Given the description of an element on the screen output the (x, y) to click on. 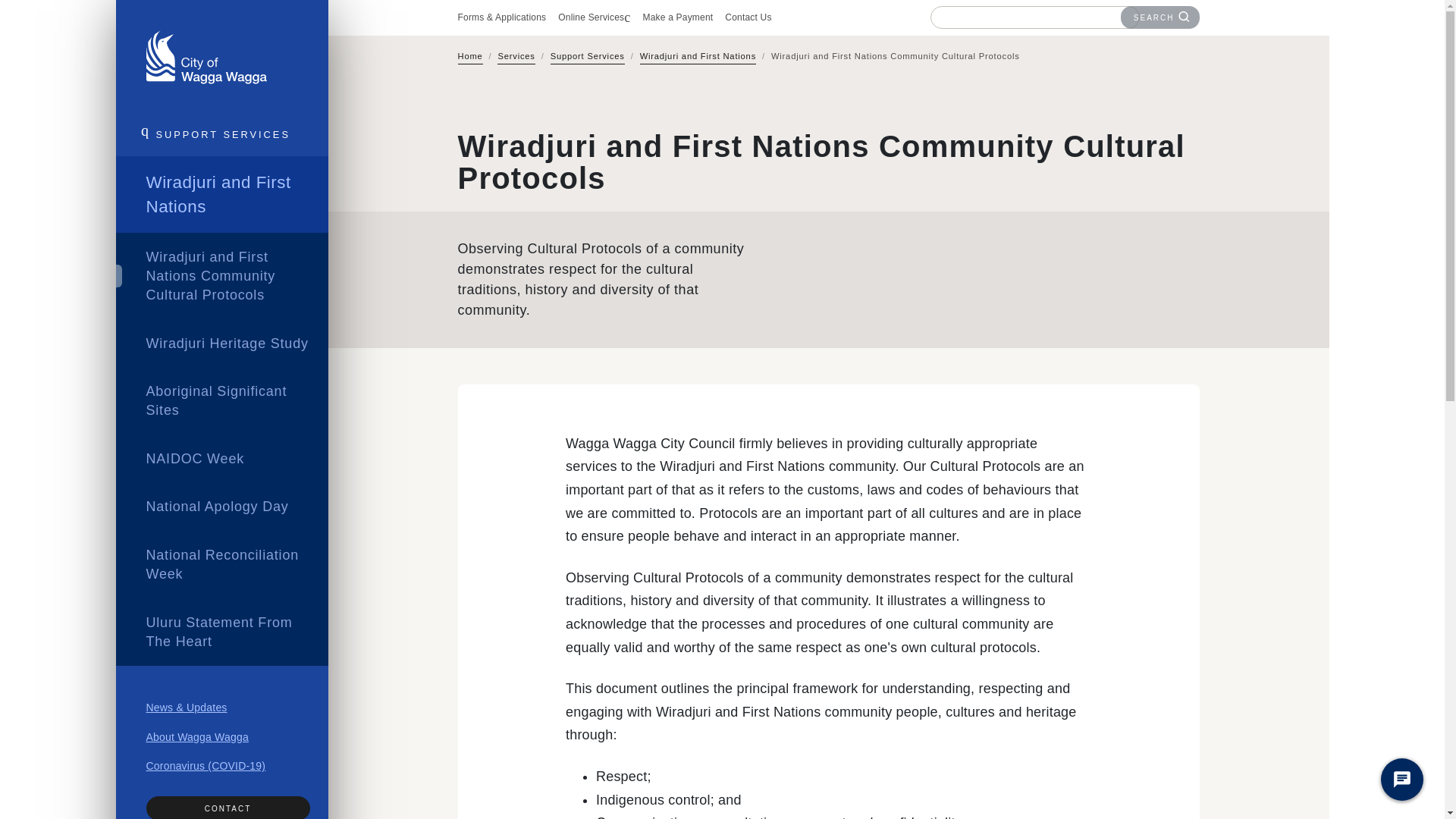
National Reconciliation Week (221, 564)
Make a Payment (677, 17)
SUPPORT SERVICES (221, 134)
Services (515, 57)
Messenger Launcher (1401, 782)
Search query (1026, 16)
SEARCH (1160, 16)
Wiradjuri and First Nations (697, 57)
Wiradjuri and First Nations (221, 194)
Uluru Statement From The Heart (221, 632)
Support Services (587, 57)
SKIP TO CONTENT (1314, 43)
NAIDOC Week (221, 459)
Wiradjuri Heritage Study (221, 343)
Home (470, 57)
